Given the description of an element on the screen output the (x, y) to click on. 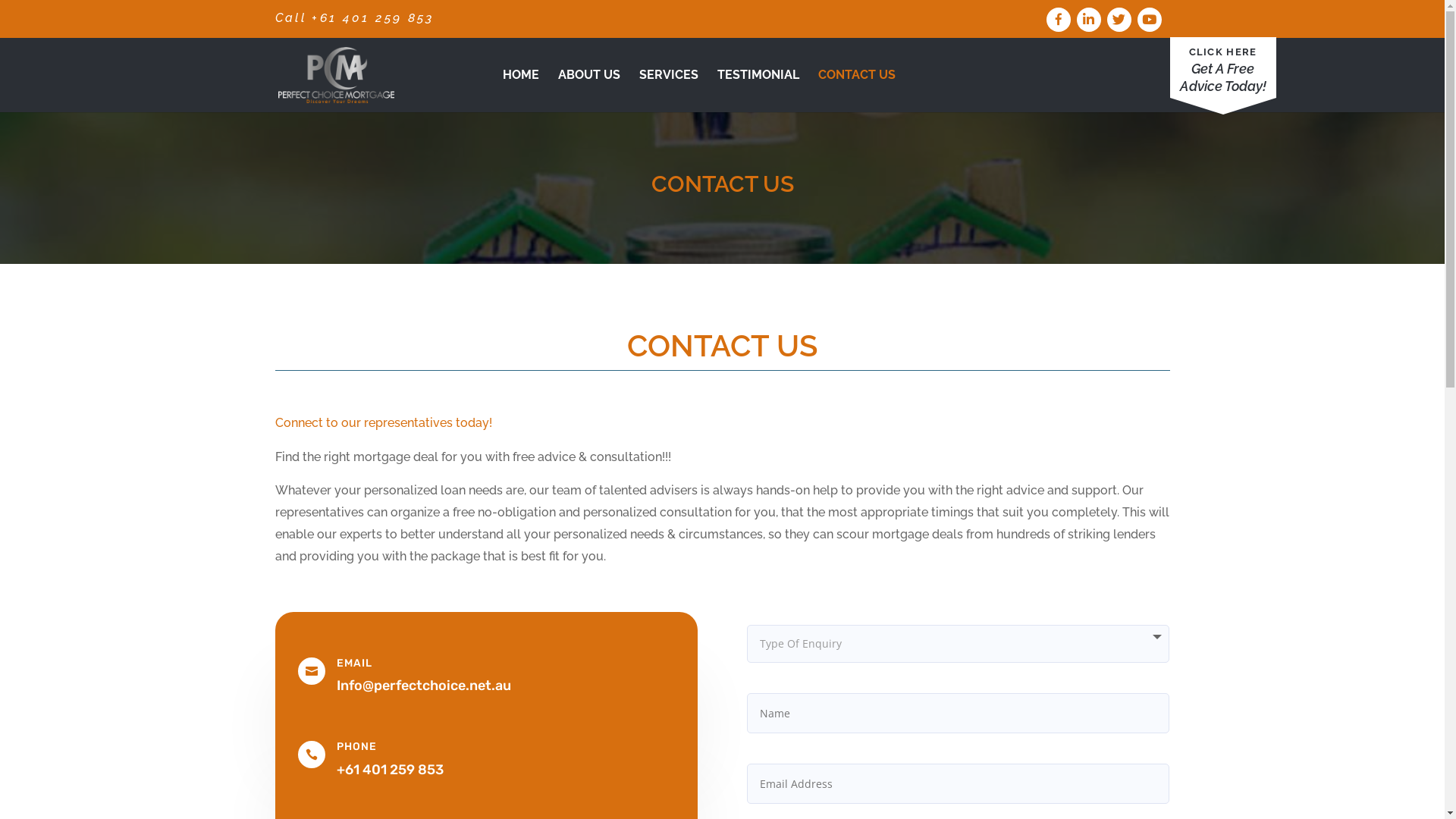
CONTACT US Element type: text (855, 90)
+61 401 259 853 Element type: text (389, 769)
Facebook Element type: hover (1058, 19)
Linkedin Element type: hover (1088, 19)
ABOUT US Element type: text (589, 90)
Call +61 401 259 853 Element type: text (353, 17)
HOME Element type: text (520, 90)
TESTIMONIAL Element type: text (758, 90)
SERVICES Element type: text (667, 90)
CLICK HERE
Get A Free Advice Today! Element type: text (1222, 67)
Youtube Element type: hover (1149, 19)
Twitter Element type: hover (1119, 19)
